Given the description of an element on the screen output the (x, y) to click on. 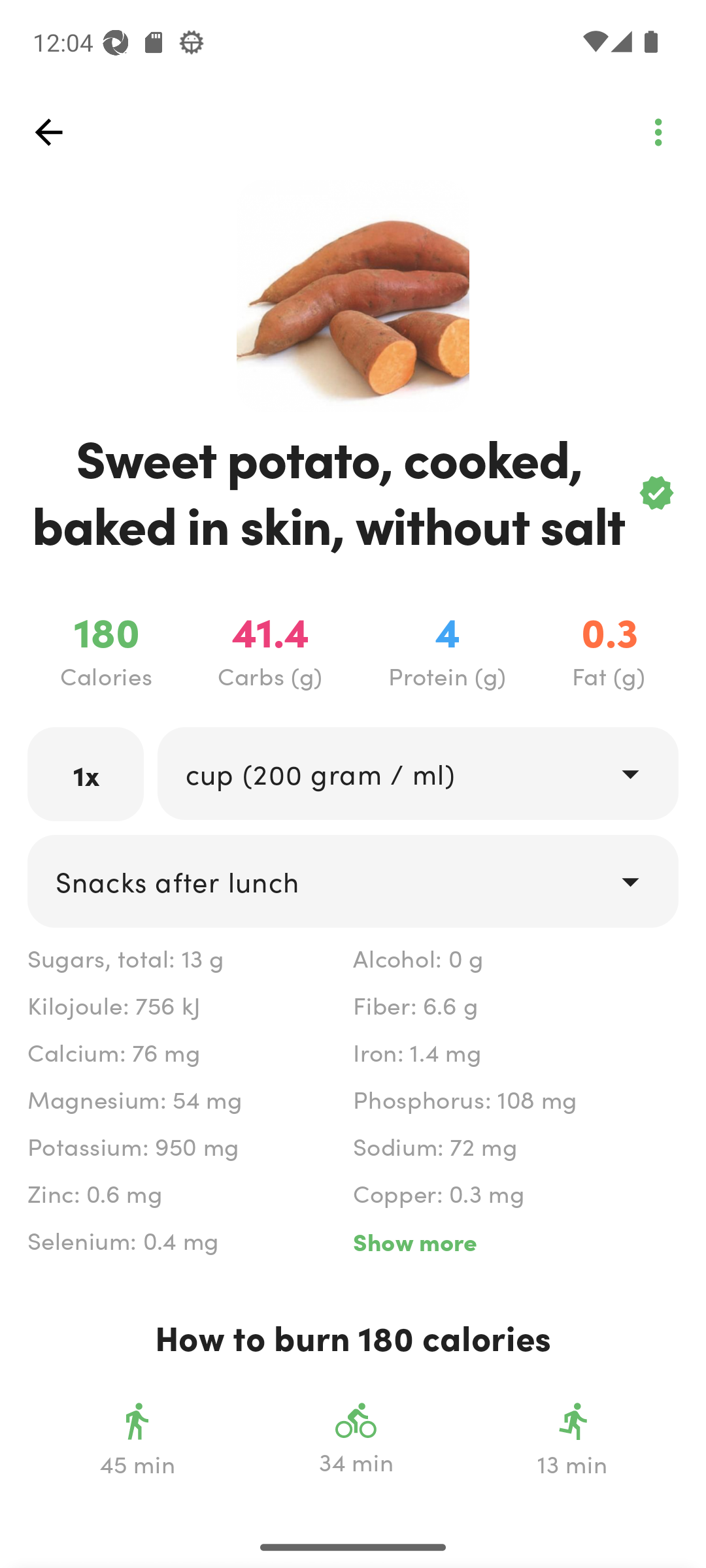
top_left_action (48, 132)
top_left_action (658, 132)
1x labeled_edit_text (85, 774)
drop_down cup (200 gram / ml) (417, 773)
drop_down Snacks after lunch (352, 881)
Show more (515, 1240)
